Given the description of an element on the screen output the (x, y) to click on. 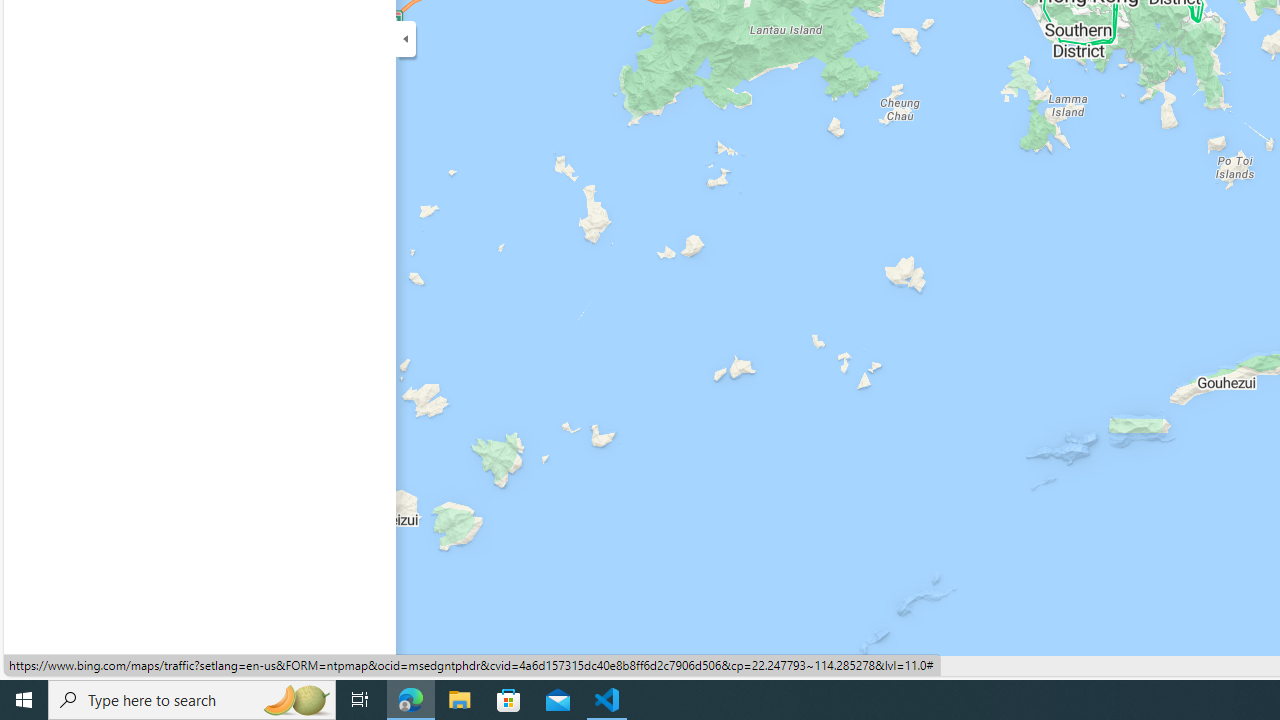
Help (438, 665)
Help (437, 665)
Expand/Collapse Cards (405, 38)
Privacy and Cookies (78, 665)
About our ads (353, 665)
Legal (183, 665)
Legal (182, 665)
Privacy and Cookies (78, 665)
About our ads (354, 665)
